Given the description of an element on the screen output the (x, y) to click on. 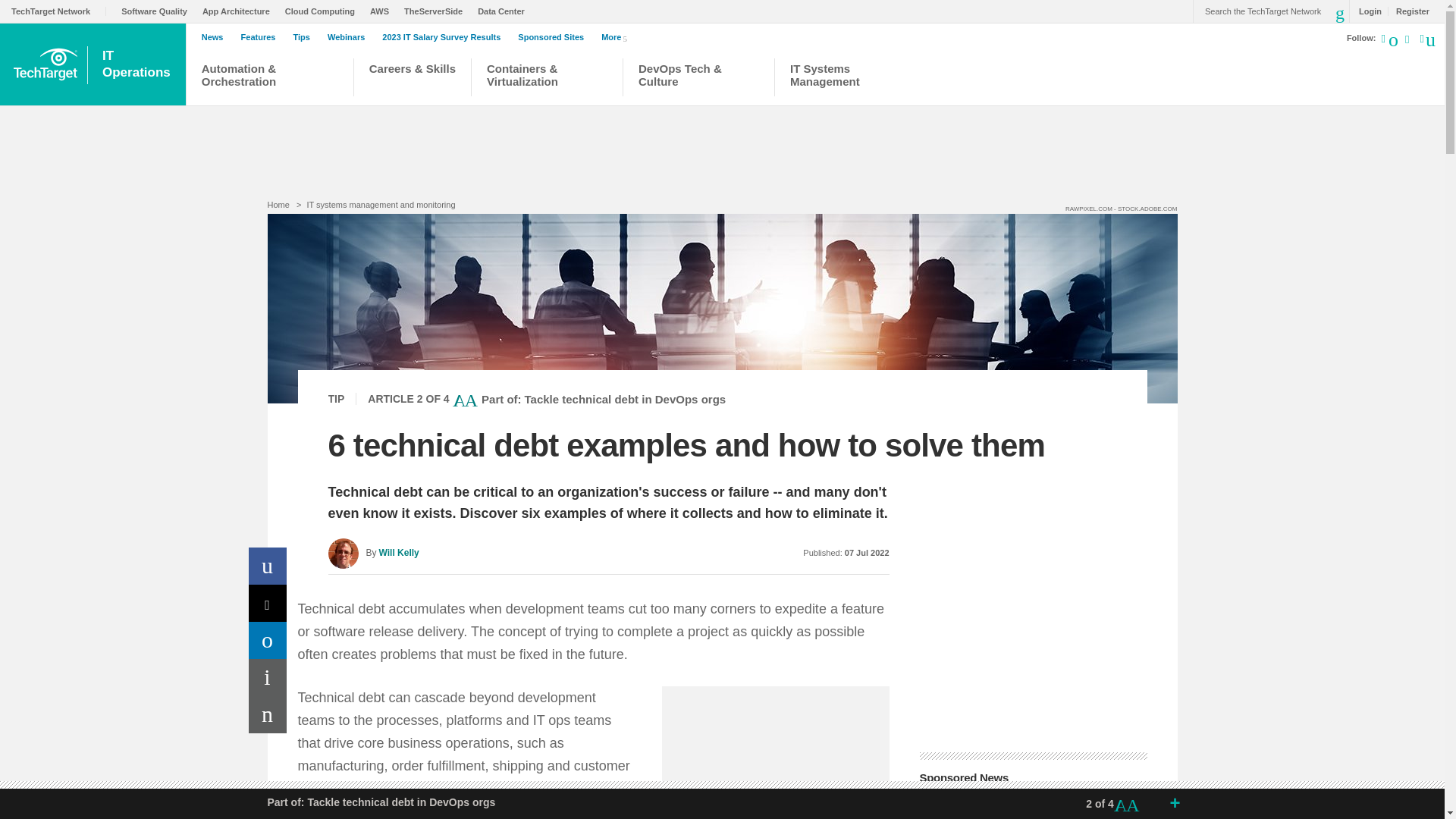
Webinars (349, 36)
Print This Page (267, 677)
Software Quality (138, 64)
Tips (157, 10)
Login (304, 36)
App Architecture (1366, 10)
Register (240, 10)
Cloud Computing (1408, 10)
Email a Friend (323, 10)
2023 IT Salary Survey Results (267, 714)
TheServerSide (444, 36)
Share on X (437, 10)
Share on LinkedIn (267, 602)
Features (267, 640)
